Given the description of an element on the screen output the (x, y) to click on. 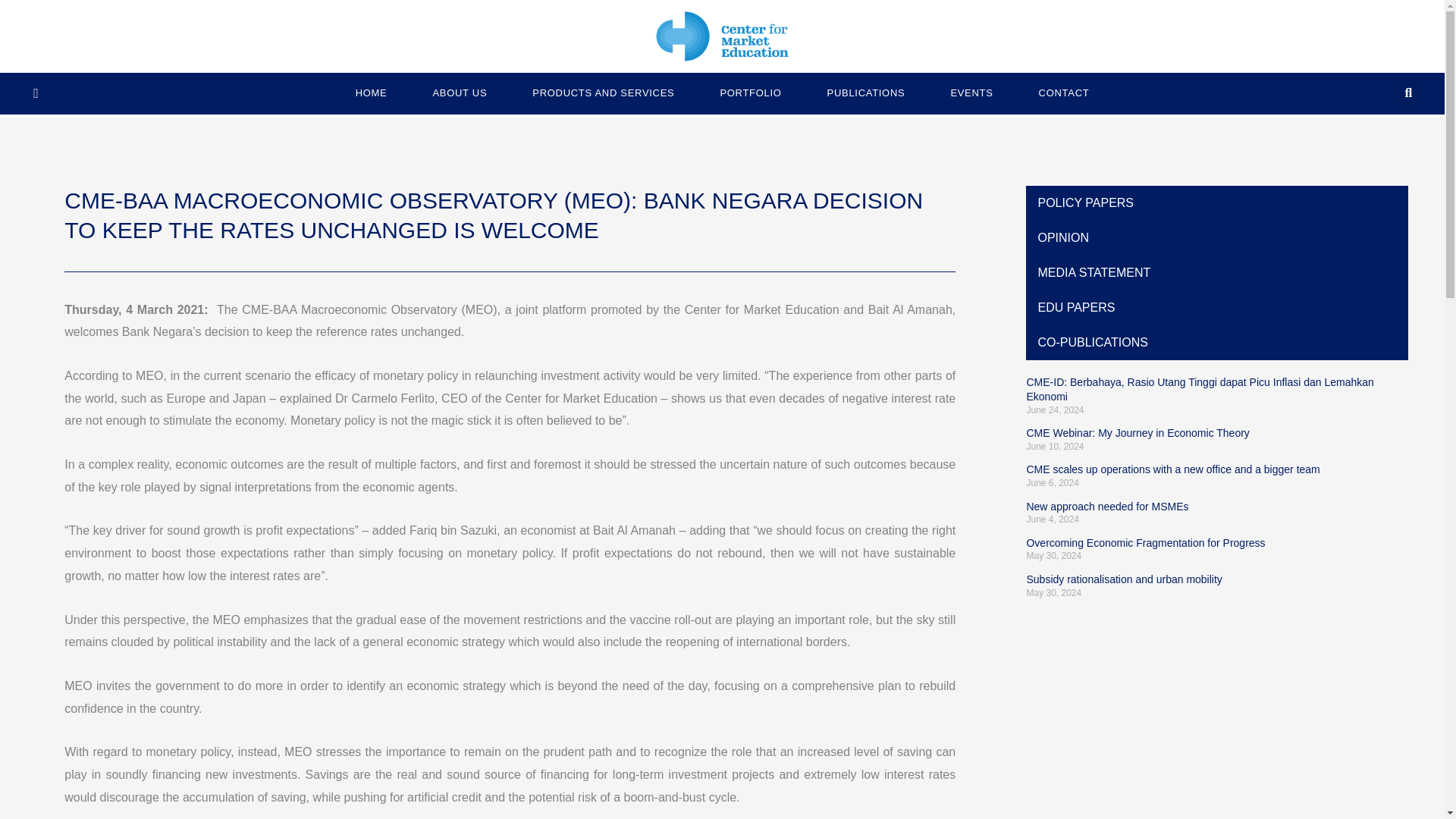
CONTACT (1064, 93)
HOME (371, 93)
ABOUT US (459, 93)
PUBLICATIONS (866, 93)
PRODUCTS AND SERVICES (603, 93)
PORTFOLIO (750, 93)
EVENTS (970, 93)
